Given the description of an element on the screen output the (x, y) to click on. 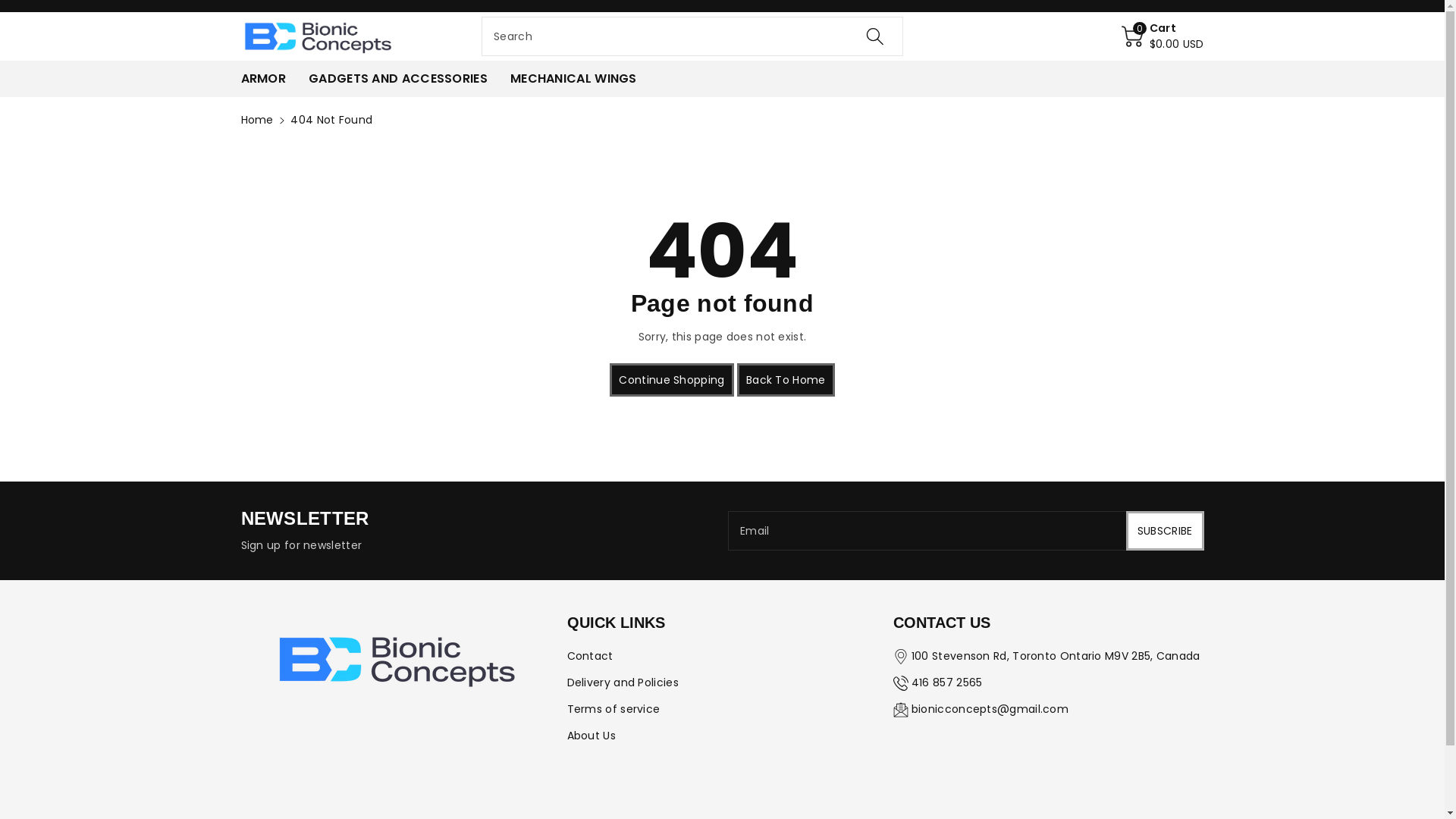
QUICK LINKS Element type: text (616, 622)
bionicconcepts@gmail.com Element type: text (989, 708)
Delivery and Policies Element type: text (622, 682)
0
Cart
$0.00 USD Element type: text (1162, 36)
Continue Shopping Element type: text (671, 379)
MECHANICAL WINGS Element type: text (573, 78)
Contact Element type: text (590, 655)
ARMOR Element type: text (263, 78)
Back To Home Element type: text (785, 379)
Terms of service Element type: text (613, 708)
About Us Element type: text (591, 735)
GADGETS AND ACCESSORIES Element type: text (397, 78)
Home Element type: text (257, 119)
SUBSCRIBE Element type: text (1165, 530)
CONTACT US Element type: text (941, 622)
416 857 2565 Element type: text (946, 682)
